Given the description of an element on the screen output the (x, y) to click on. 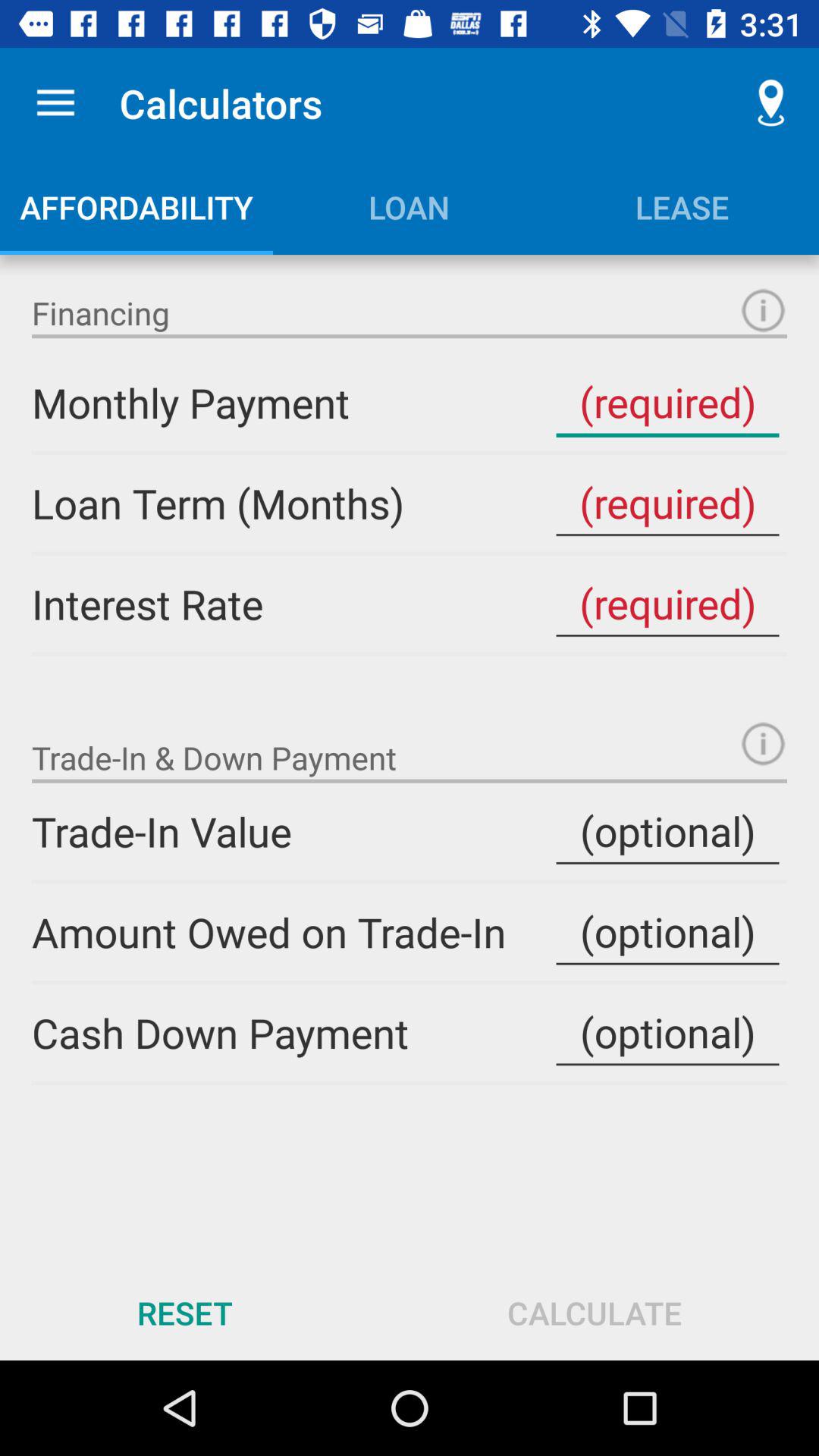
tap the icon next to calculate (184, 1312)
